Given the description of an element on the screen output the (x, y) to click on. 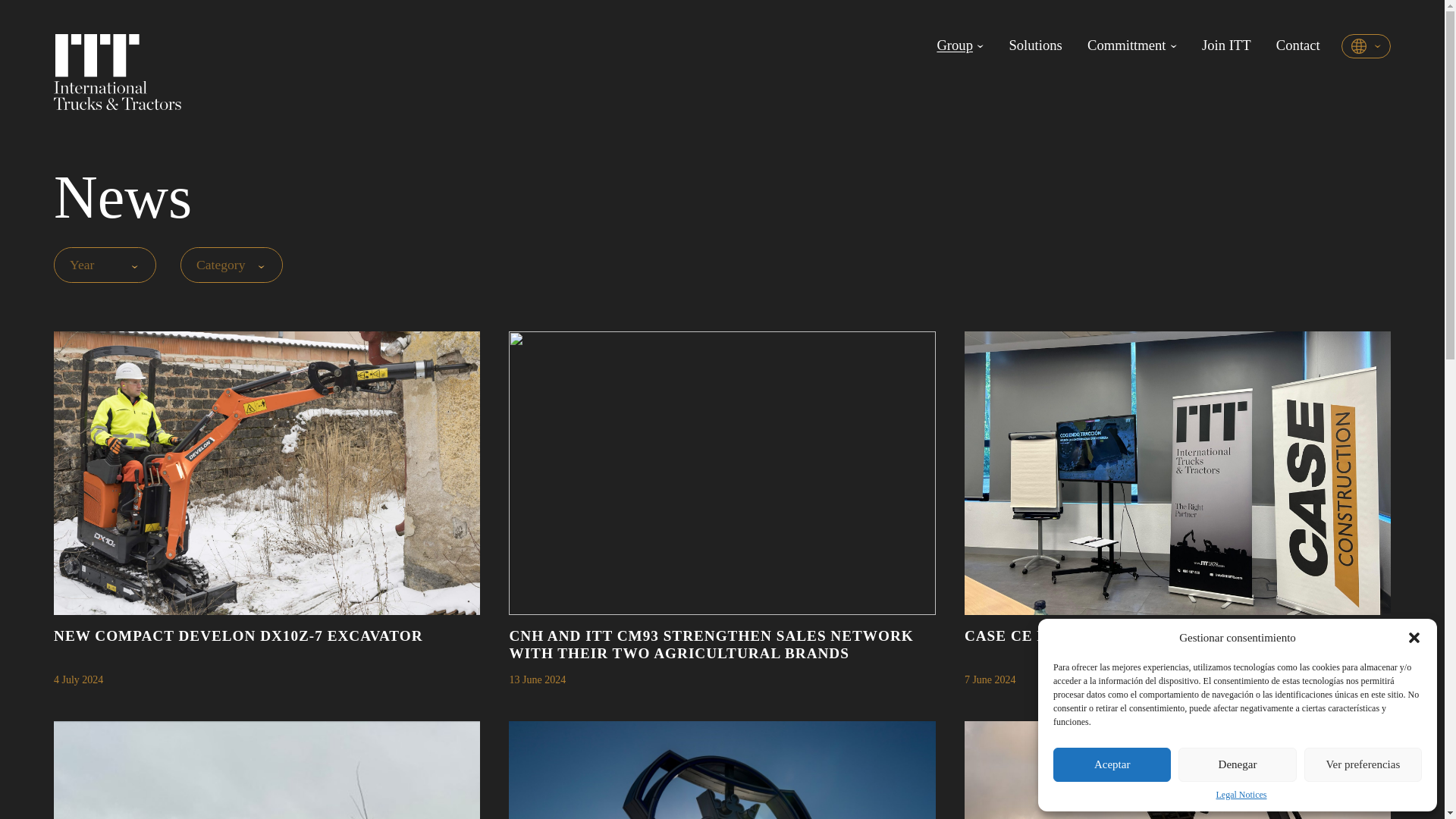
Aceptar (1111, 764)
Denegar (1236, 764)
Ver preferencias (1363, 764)
Contact (1297, 45)
Join ITT (1176, 770)
Solutions (1226, 45)
